Given the description of an element on the screen output the (x, y) to click on. 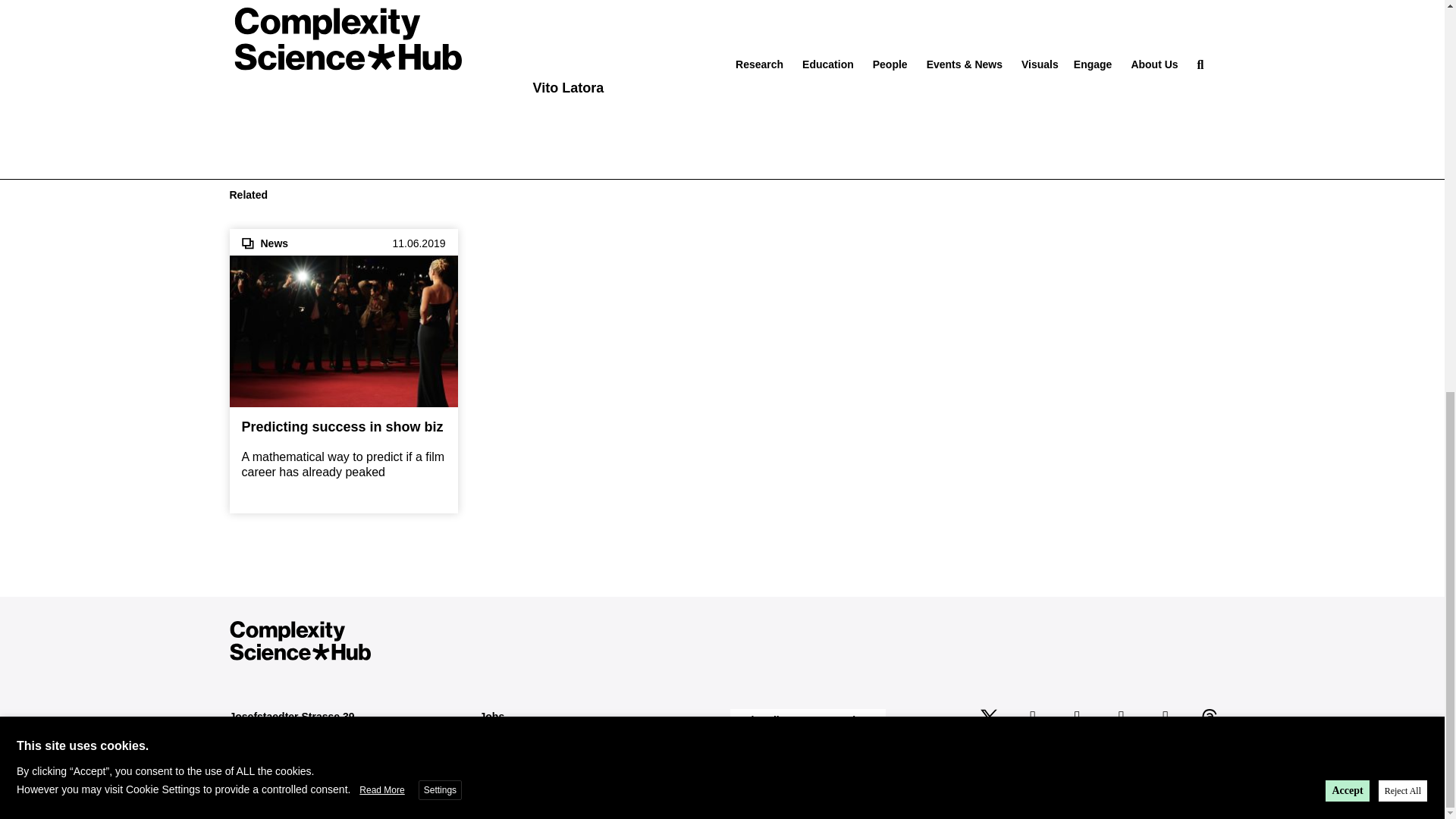
Vito-Latora-500x500-1.jpg (611, 36)
